Given the description of an element on the screen output the (x, y) to click on. 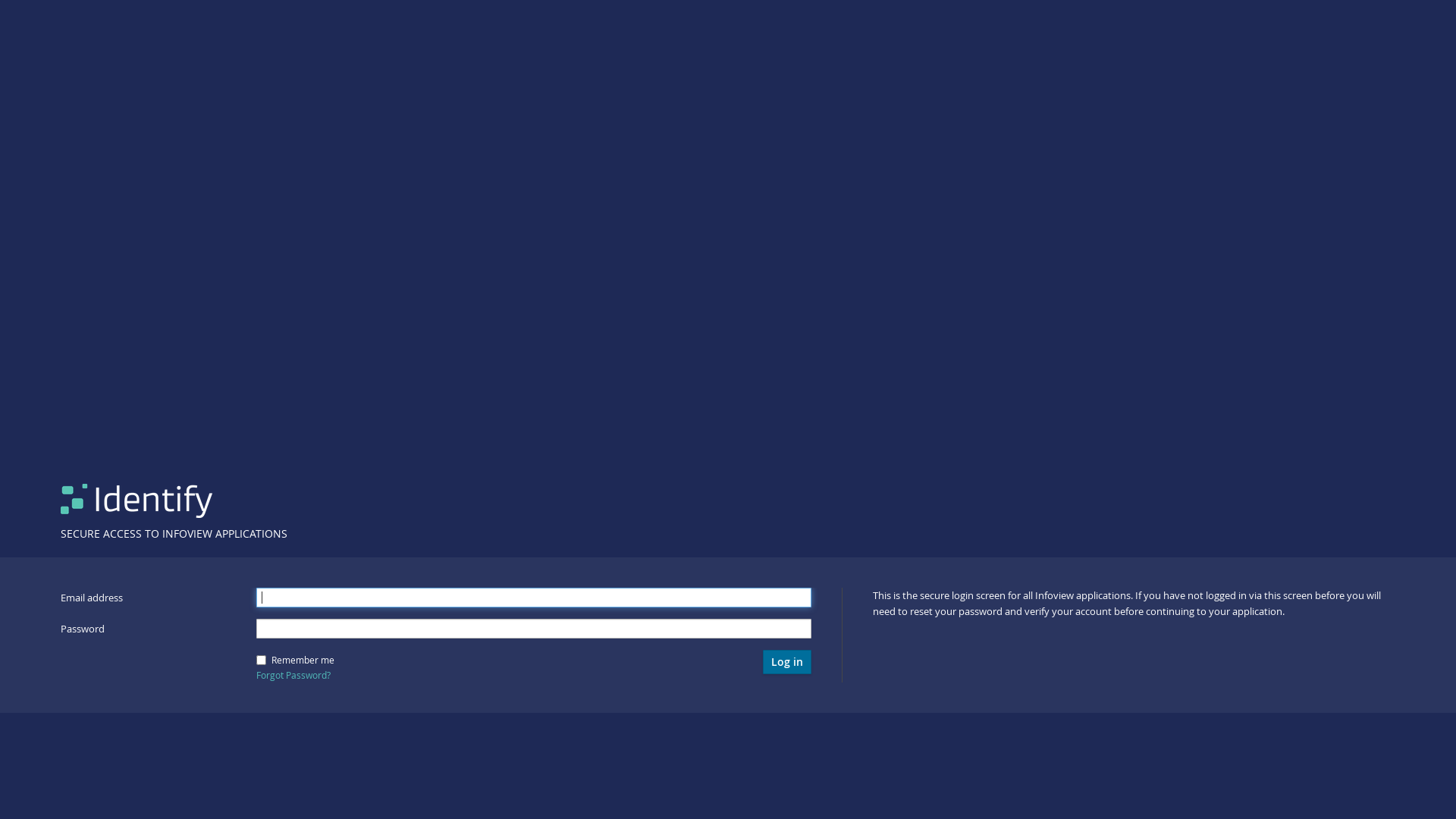
Forgot Password? Element type: text (293, 674)
Log in Element type: text (786, 661)
